Given the description of an element on the screen output the (x, y) to click on. 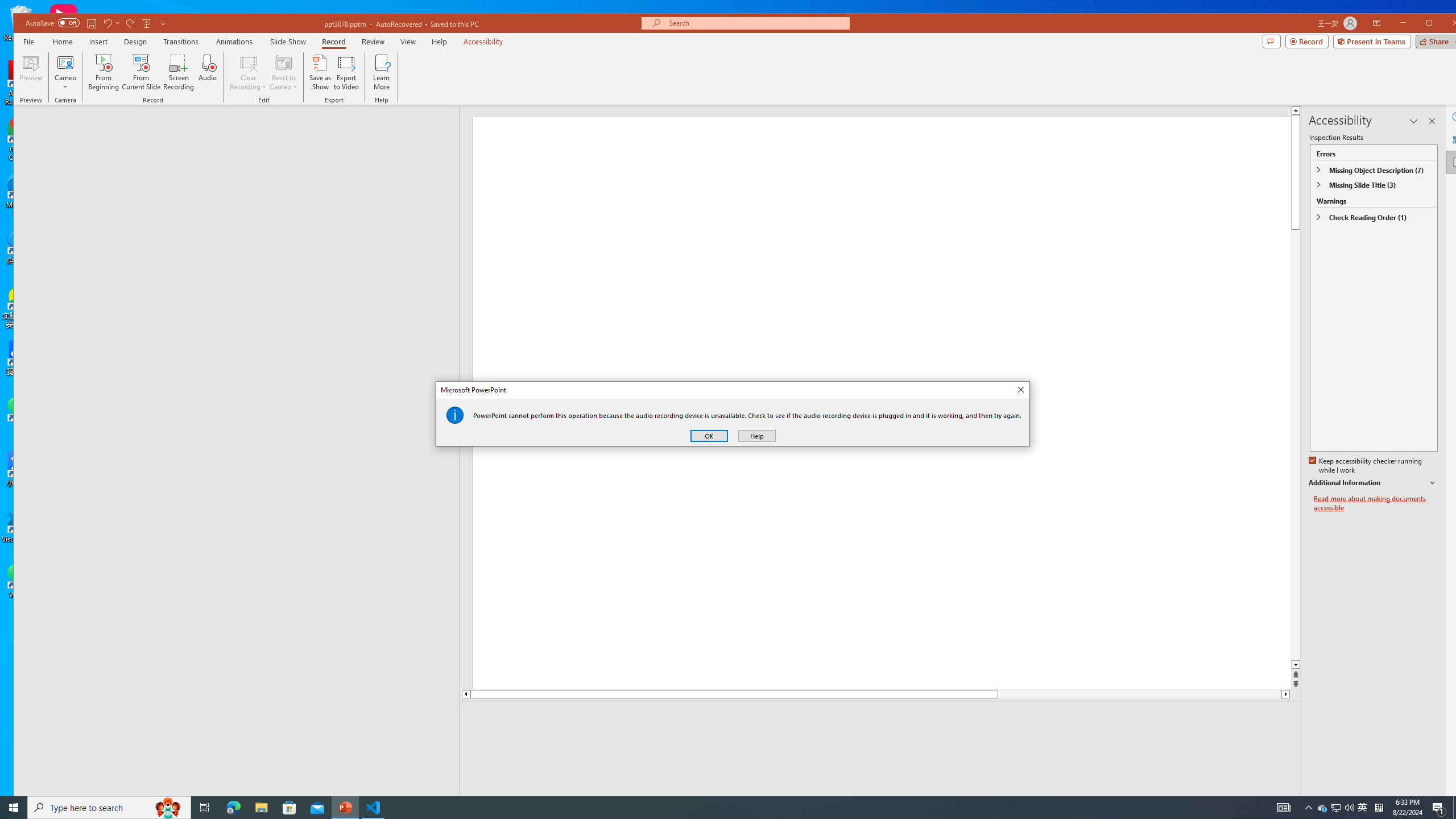
Page down (1139, 693)
Slide Show Previous On (1217, 802)
User Promoted Notification Area (1322, 807)
OK (1336, 807)
Q2790: 100% (709, 435)
Running applications (1349, 807)
